Given the description of an element on the screen output the (x, y) to click on. 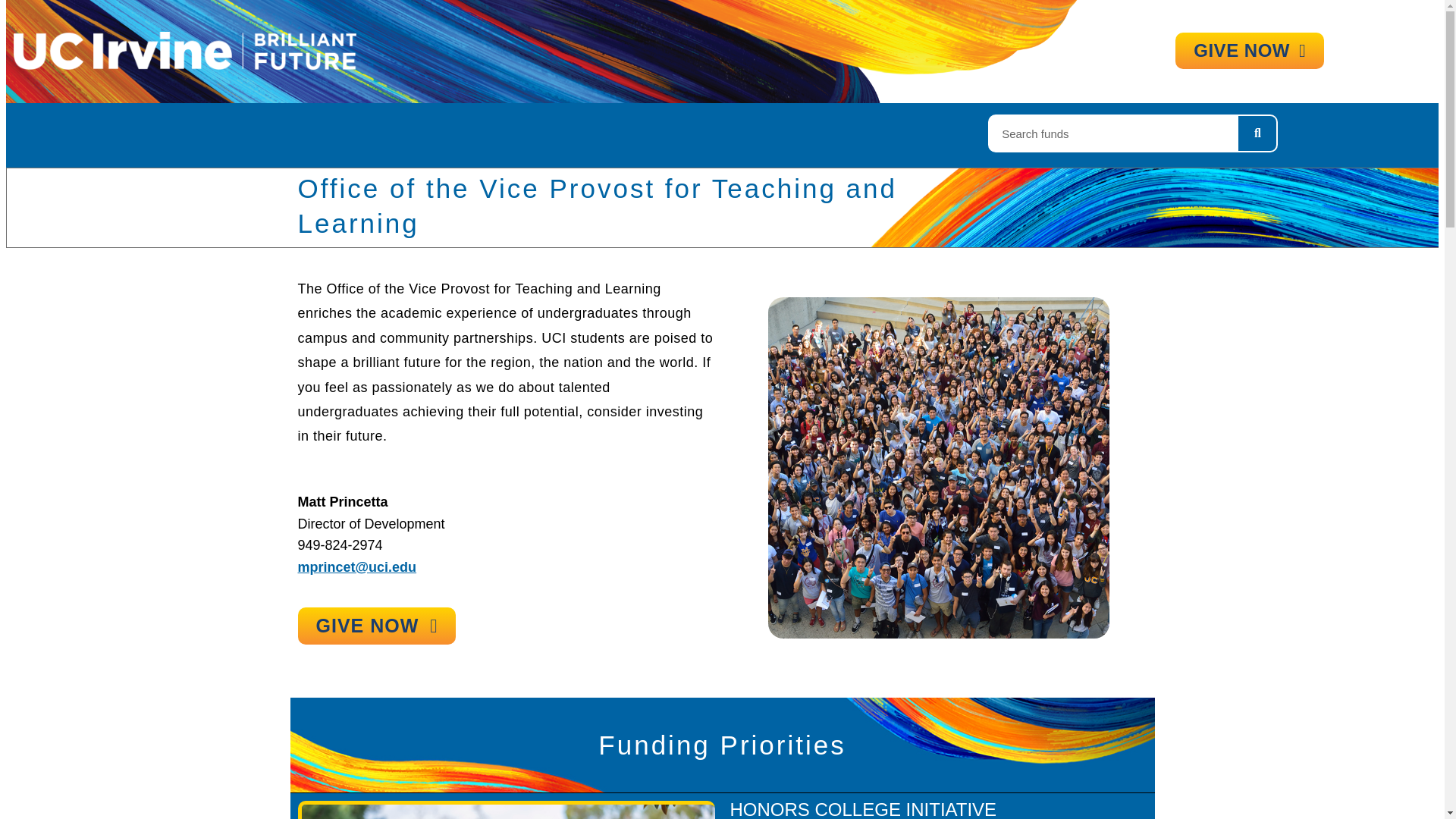
GIVE NOW (1248, 50)
GIVE NOW (376, 625)
